Given the description of an element on the screen output the (x, y) to click on. 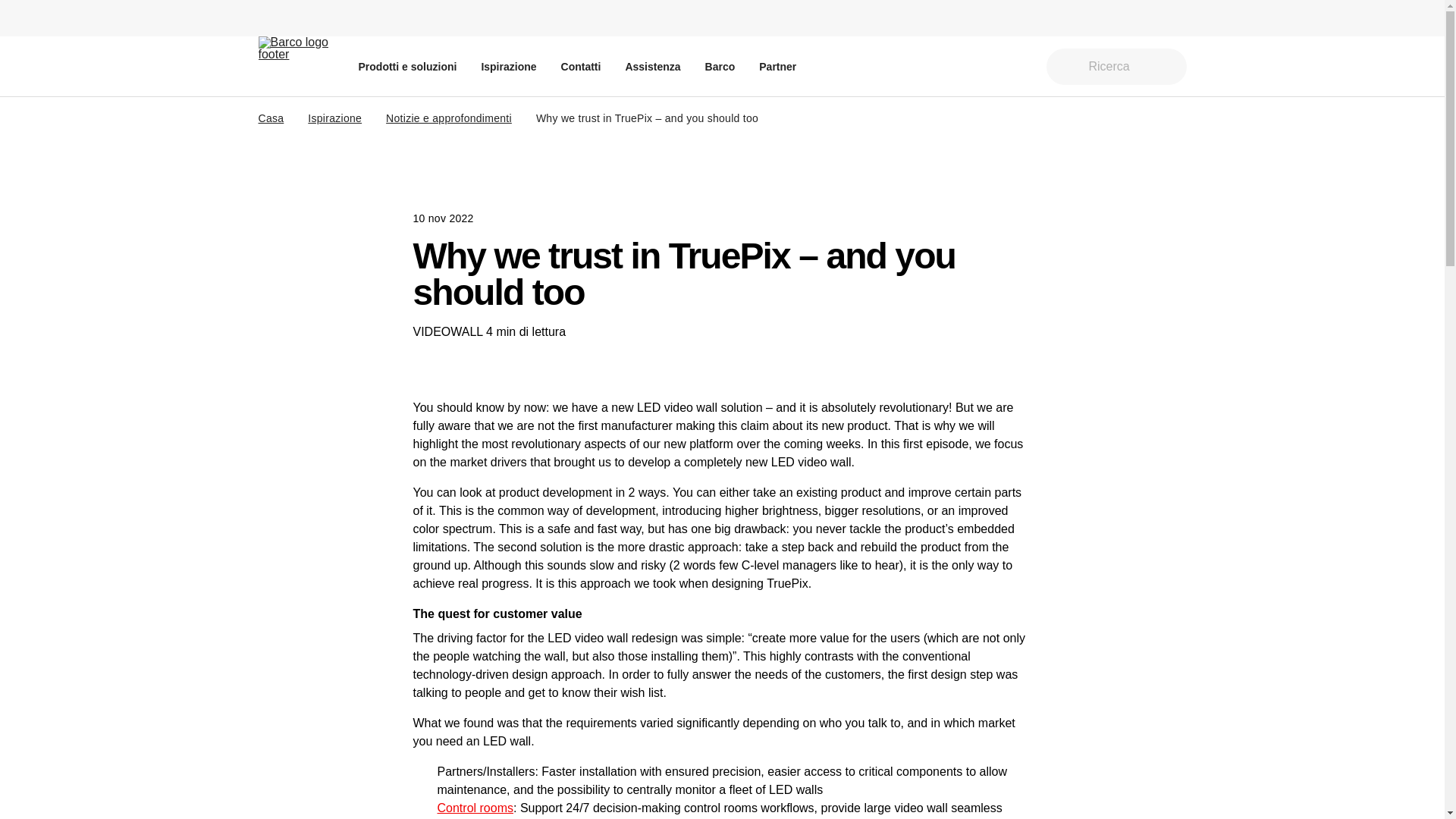
Ispirazione (507, 66)
Prodotti e soluzioni (407, 66)
Assistenza (651, 66)
